Given the description of an element on the screen output the (x, y) to click on. 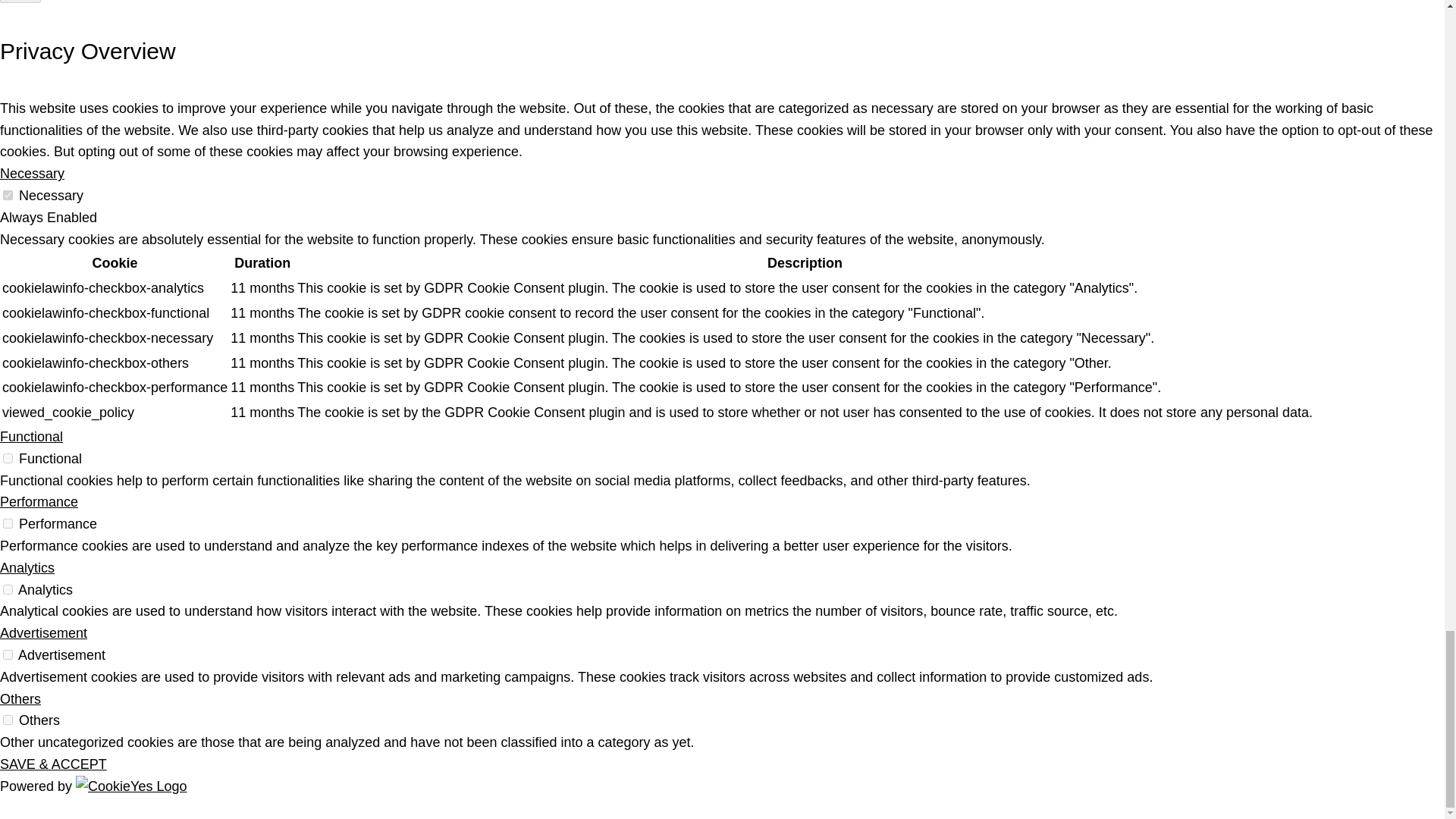
on (7, 523)
on (7, 719)
on (7, 458)
on (7, 655)
on (7, 194)
on (7, 589)
